Given the description of an element on the screen output the (x, y) to click on. 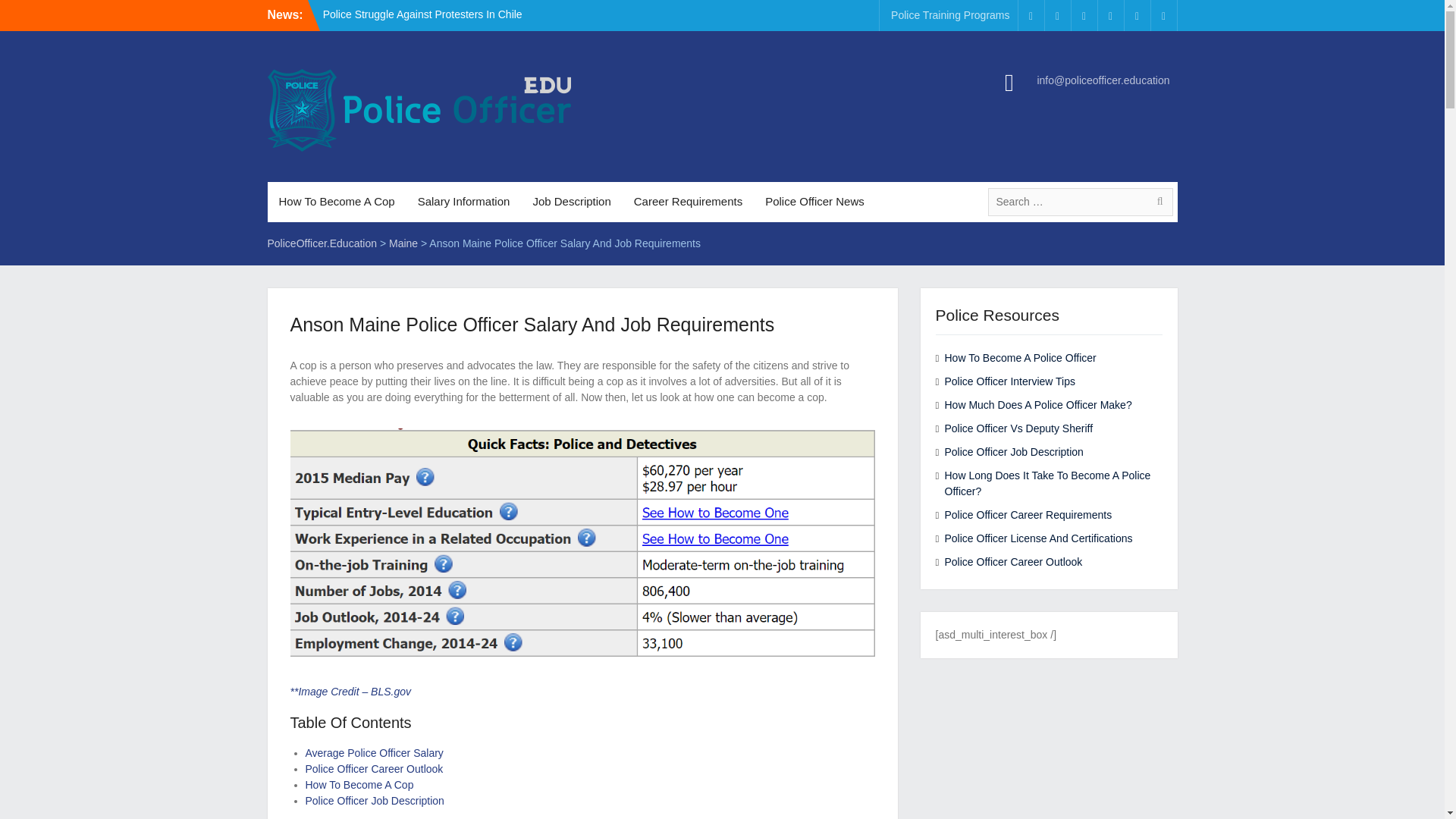
Police Struggle Against Protesters In Chile (422, 14)
Average Police Officer Salary (373, 752)
Police Officer Career Outlook (373, 768)
Police Training Programs (949, 15)
Police Officer News (815, 201)
How To Become A Cop (336, 201)
Go to PoliceOfficer.Education. (321, 242)
How To Become A Cop (358, 784)
Salary Information (463, 201)
Police Officer Job Description (374, 800)
Maine (402, 242)
Job Description (571, 201)
PoliceOfficer.Education (321, 242)
Go to the Maine State Career archives. (402, 242)
Career Requirements (688, 201)
